Given the description of an element on the screen output the (x, y) to click on. 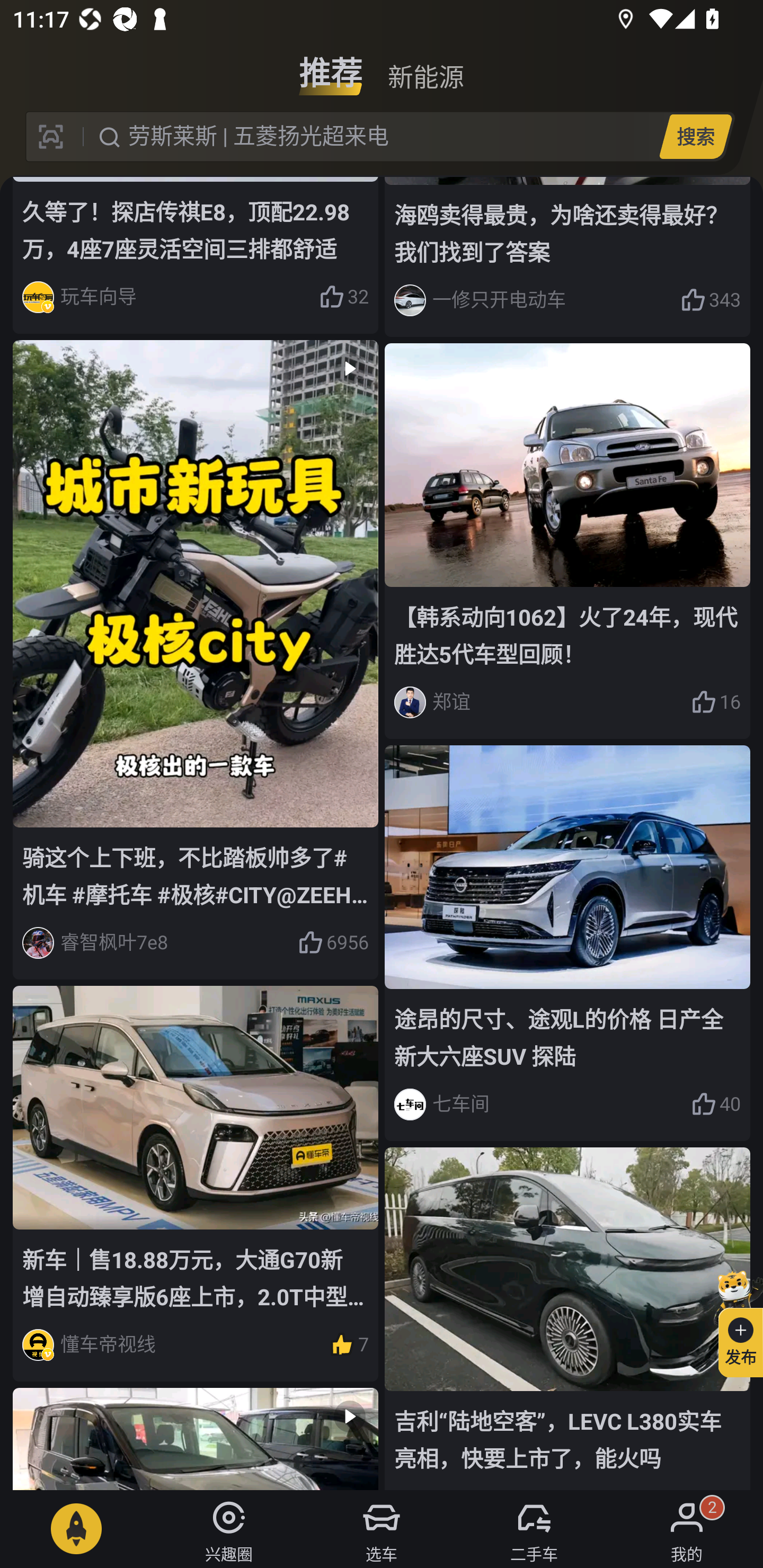
推荐 (330, 65)
新能源 (425, 65)
搜索 (695, 136)
久等了！探店传祺E8，顶配22.98万，4座7座灵活空间三排都舒适 玩车向导 32 (195, 255)
海鸥卖得最贵，为啥还卖得最好？我们找到了答案 一修只开电动车 343 (567, 257)
32 (343, 296)
343 (710, 299)
【韩系动向1062】火了24年，现代胜达5代车型回顾！ 郑谊 16 (567, 540)
16 (715, 701)
途昂的尺寸、途观L的价格 日产全新大六座SUV 探陆 七车间 40 (567, 942)
6956 (332, 942)
新车｜售18.88万元，大通G70新增自动臻享版6座上市，2.0T中型MPV 懂车帝视线 7 (195, 1183)
40 (715, 1104)
吉利“陆地空客”，LEVC L380实车亮相，快要上市了，能火吗 (567, 1318)
发布 (732, 1321)
7 (348, 1344)
 兴趣圈 (228, 1528)
 选车 (381, 1528)
 二手车 (533, 1528)
 我的 (686, 1528)
